Given the description of an element on the screen output the (x, y) to click on. 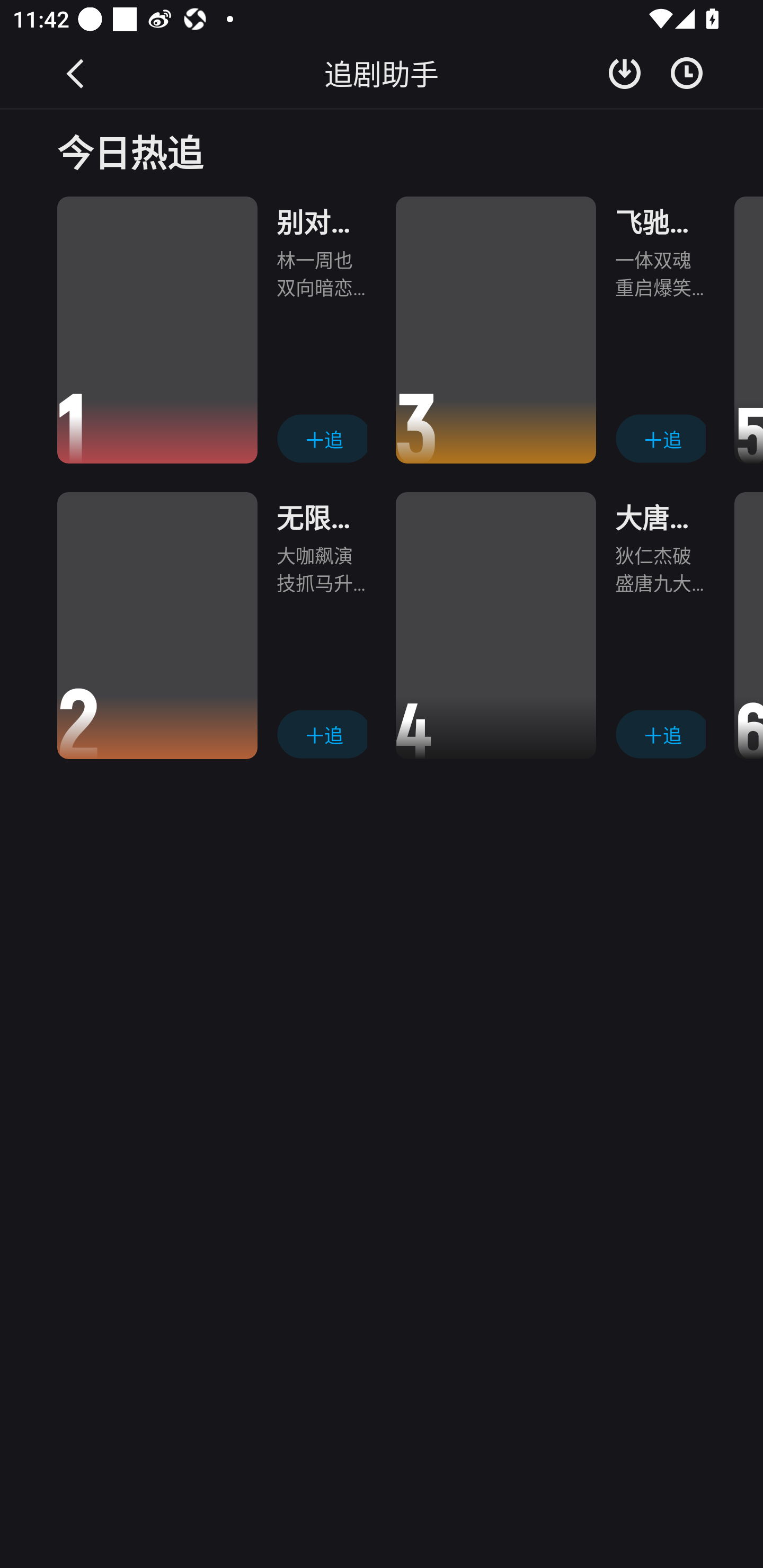
追剧助手 (381, 72)
 返回 (76, 72)
下载 (624, 72)
历史 (686, 72)
今日热追 (381, 150)
追 (321, 438)
追 (659, 438)
追 (321, 733)
追 (659, 733)
